Given the description of an element on the screen output the (x, y) to click on. 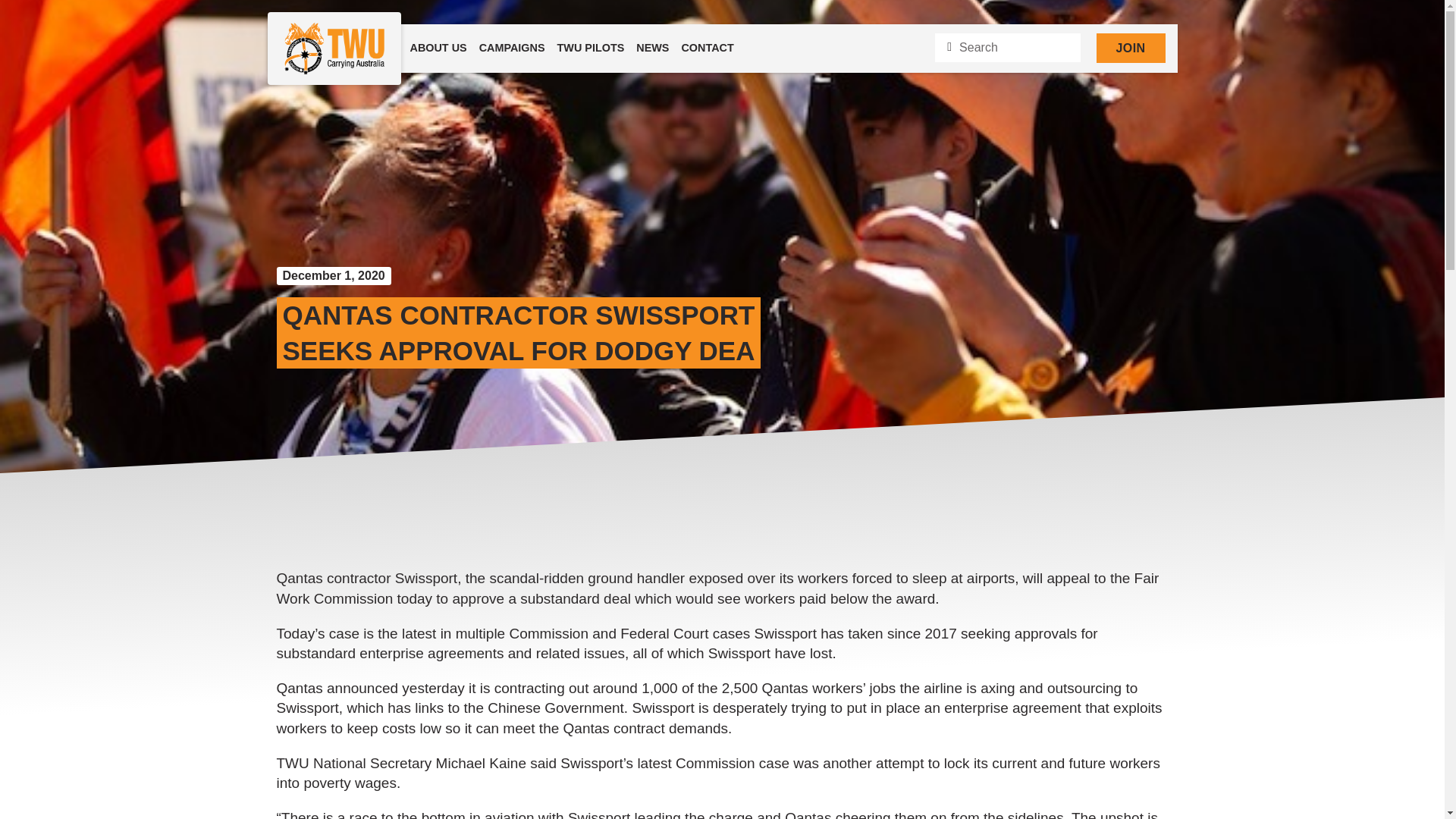
NEWS (652, 48)
TWU PILOTS (590, 48)
CAMPAIGNS (512, 48)
JOIN (1131, 48)
ABOUT US (437, 48)
CONTACT (707, 48)
